Given the description of an element on the screen output the (x, y) to click on. 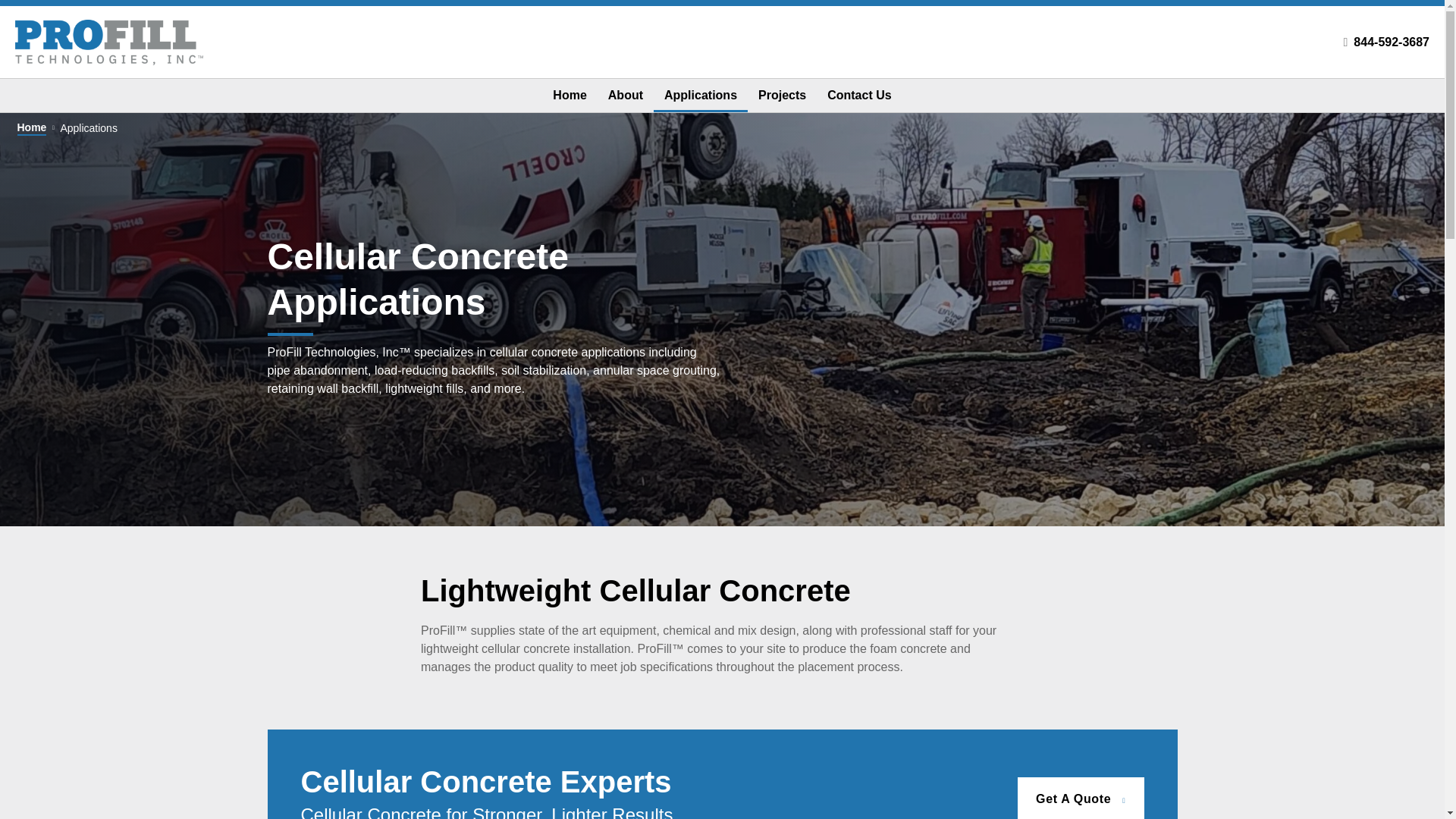
Home (31, 127)
Projects (782, 95)
About (624, 95)
844-592-3687 (1391, 42)
Get A Quote (1079, 798)
Home (568, 95)
Contact Us (858, 95)
Applications (700, 95)
